Given the description of an element on the screen output the (x, y) to click on. 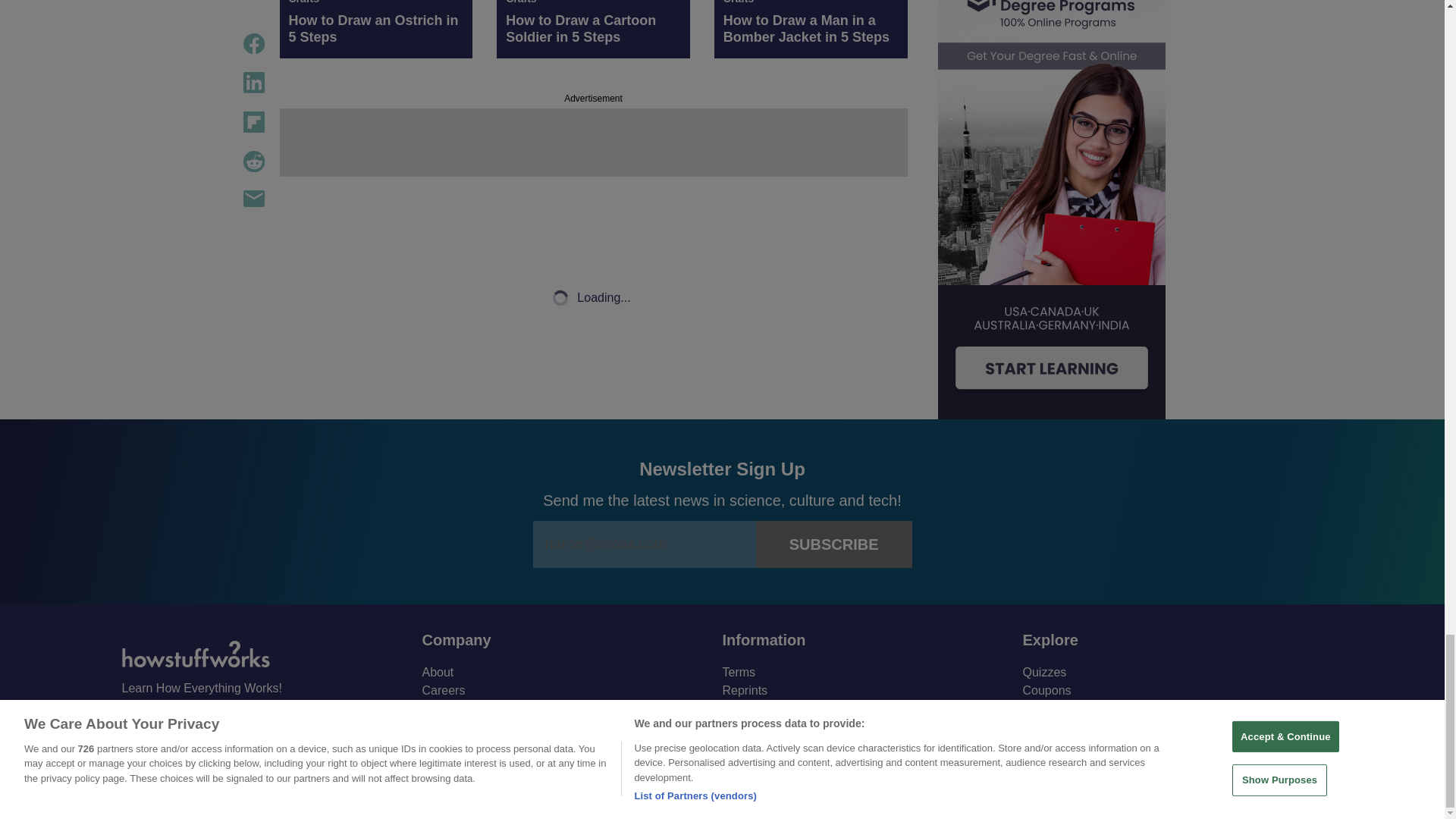
Visit HowStuffWorks on YouTube (173, 722)
Visit HowStuffWorks on Instagram (213, 723)
Subscribe (833, 544)
Visit HowStuffWorks on Facebook (134, 723)
